Given the description of an element on the screen output the (x, y) to click on. 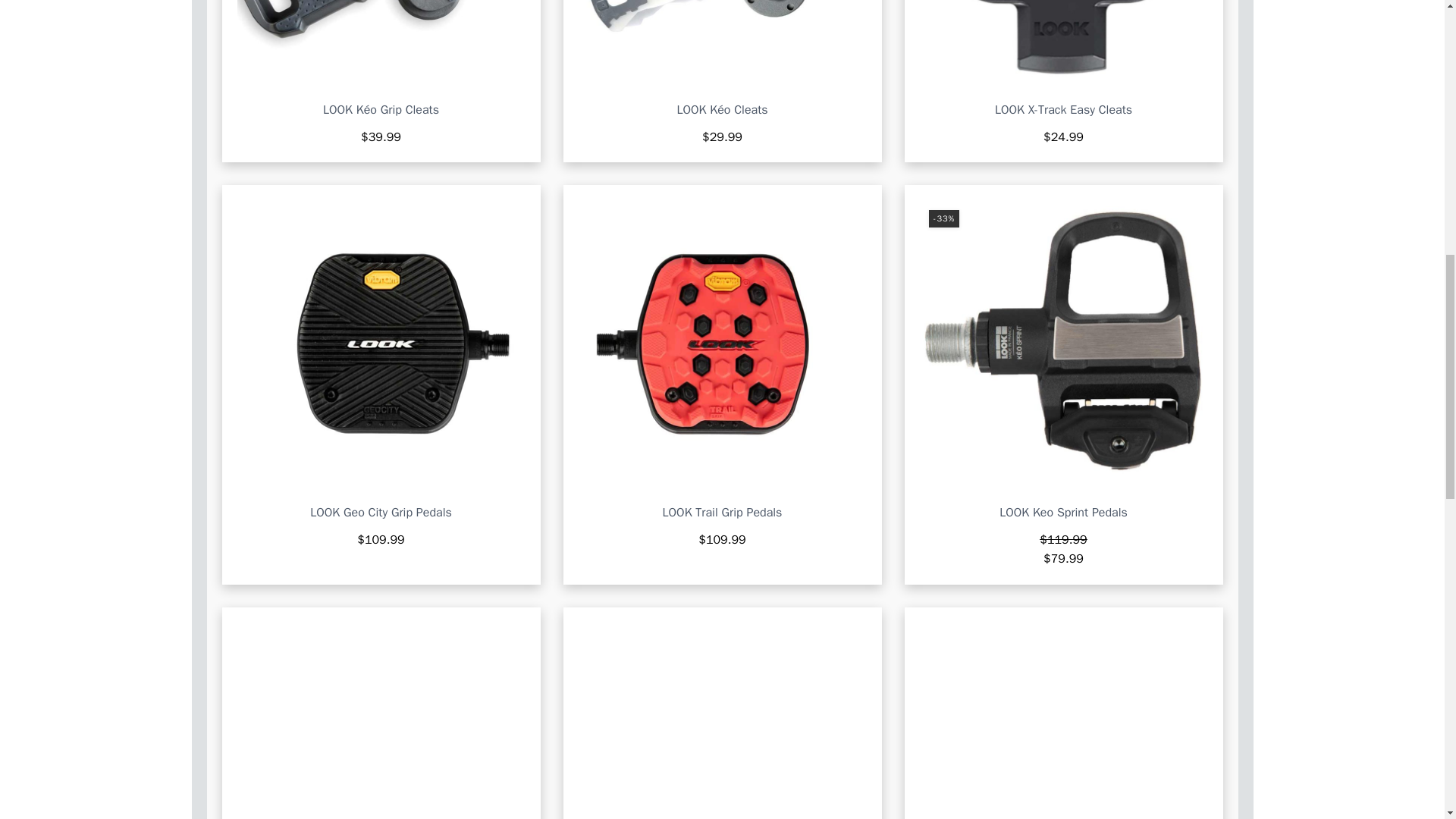
LOOK Trail Grip Pedals (722, 513)
LOOK X-Track Easy Cleats (1063, 110)
LOOK Keo Sprint Pedals (1062, 513)
LOOK Geo City Grip Pedals (380, 513)
